Given the description of an element on the screen output the (x, y) to click on. 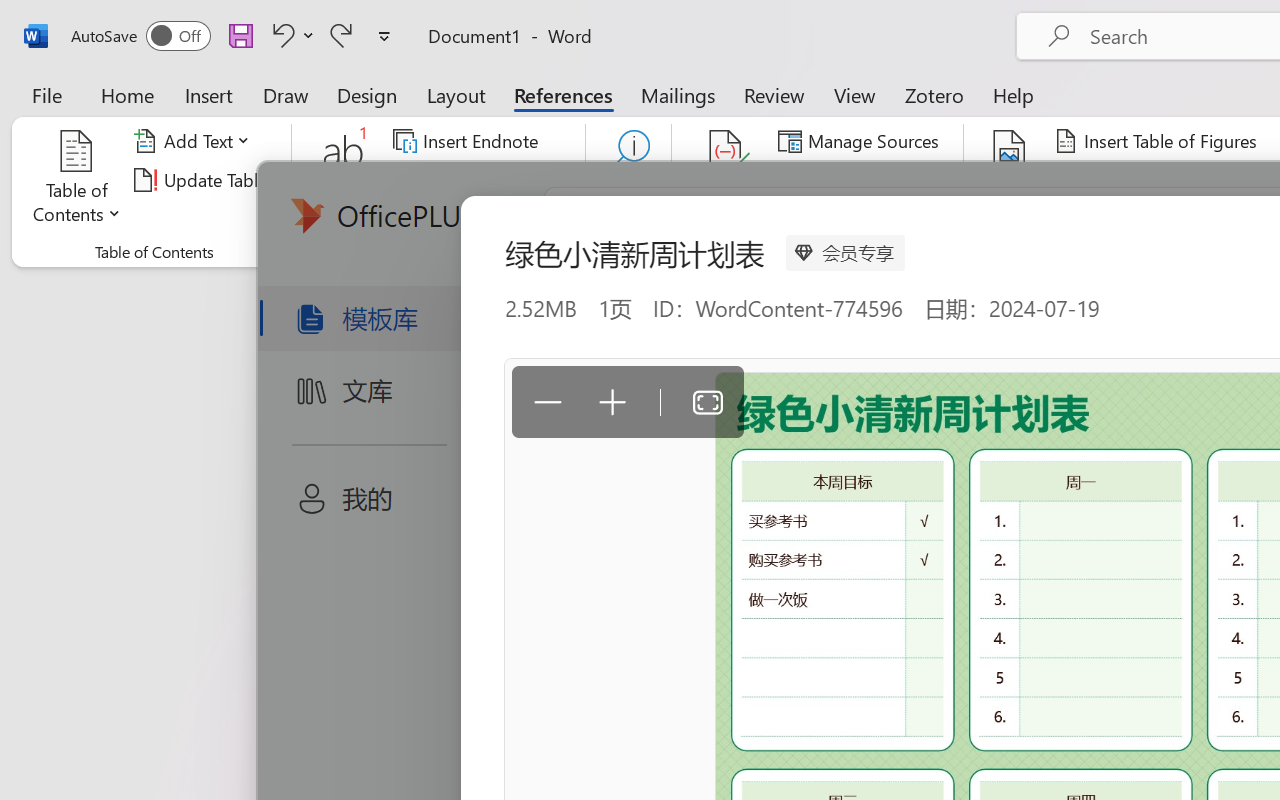
Style (892, 179)
Manage Sources... (861, 141)
Insert Caption... (1009, 180)
Next Footnote (479, 179)
Next Footnote (468, 179)
Insert Footnote (344, 179)
Cross-reference... (1133, 218)
Undo Apply Quick Style Set (280, 35)
